Given the description of an element on the screen output the (x, y) to click on. 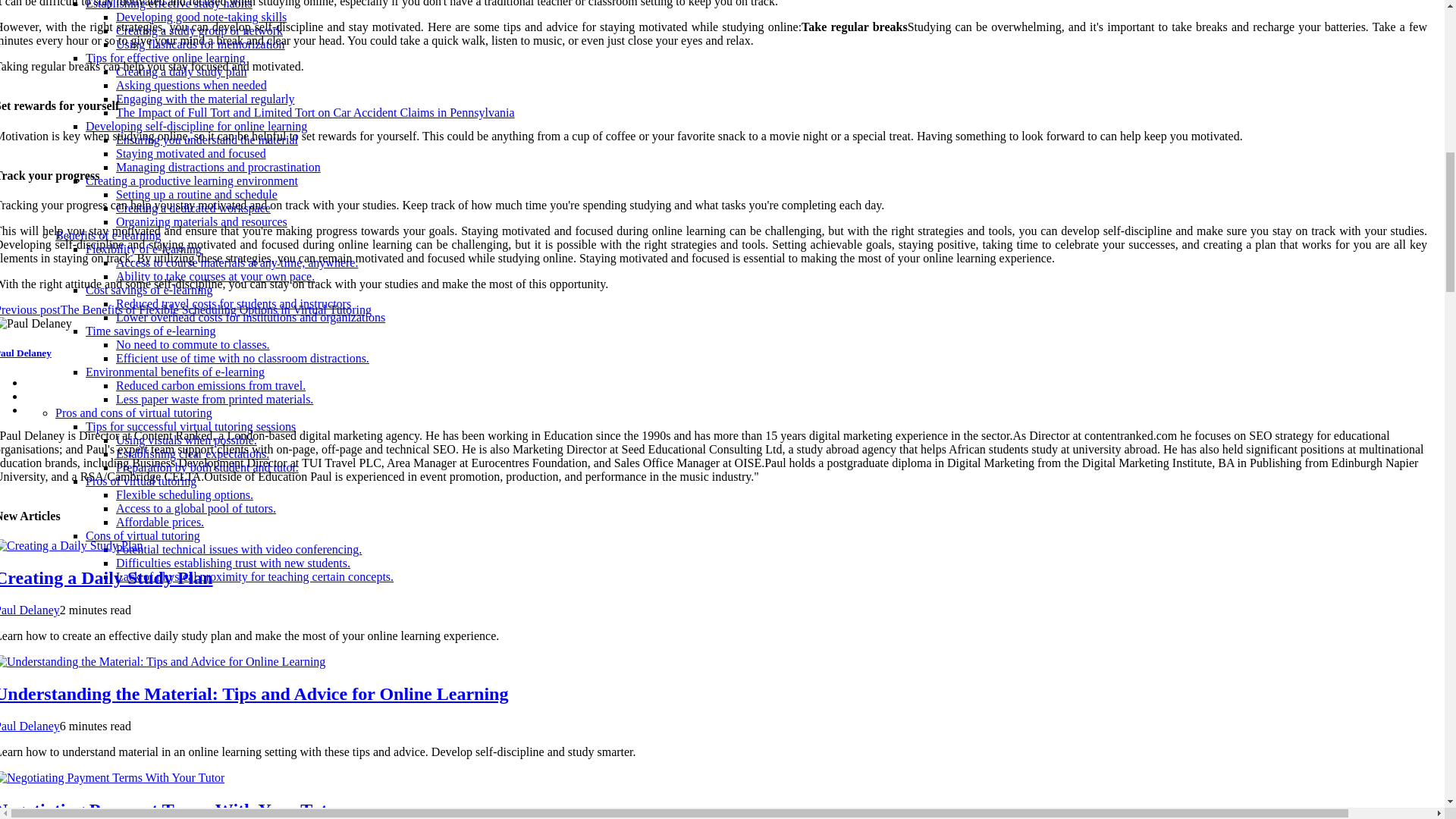
Posts by Paul Delaney (29, 609)
Posts by Paul Delaney (29, 725)
